Given the description of an element on the screen output the (x, y) to click on. 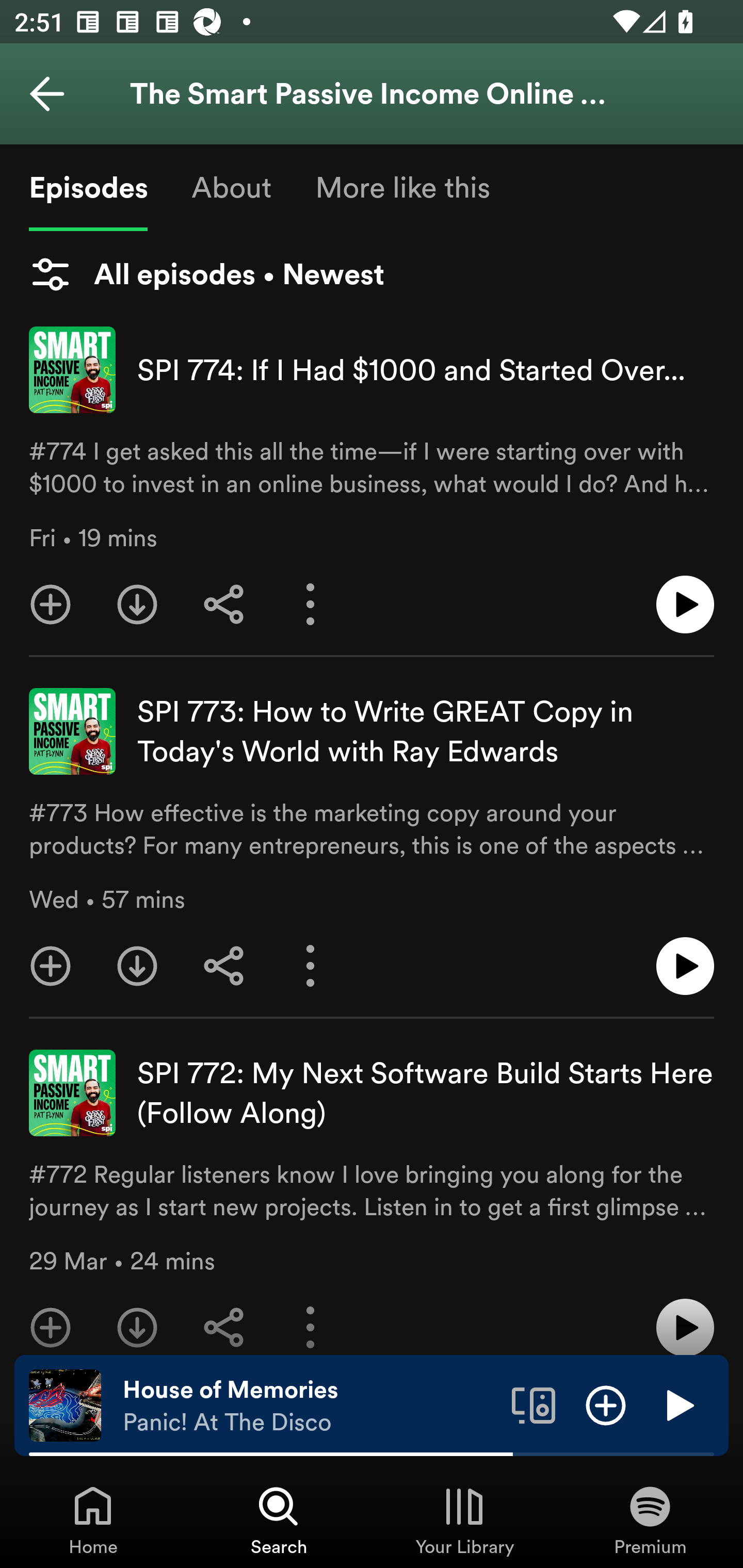
Back (46, 93)
About (231, 187)
More like this (402, 187)
All episodes • Newest (206, 274)
Share (223, 604)
Share (223, 965)
Share (223, 1319)
House of Memories Panic! At The Disco (309, 1405)
The cover art of the currently playing track (64, 1404)
Connect to a device. Opens the devices menu (533, 1404)
Add item (605, 1404)
Play (677, 1404)
Home, Tab 1 of 4 Home Home (92, 1519)
Search, Tab 2 of 4 Search Search (278, 1519)
Your Library, Tab 3 of 4 Your Library Your Library (464, 1519)
Premium, Tab 4 of 4 Premium Premium (650, 1519)
